Given the description of an element on the screen output the (x, y) to click on. 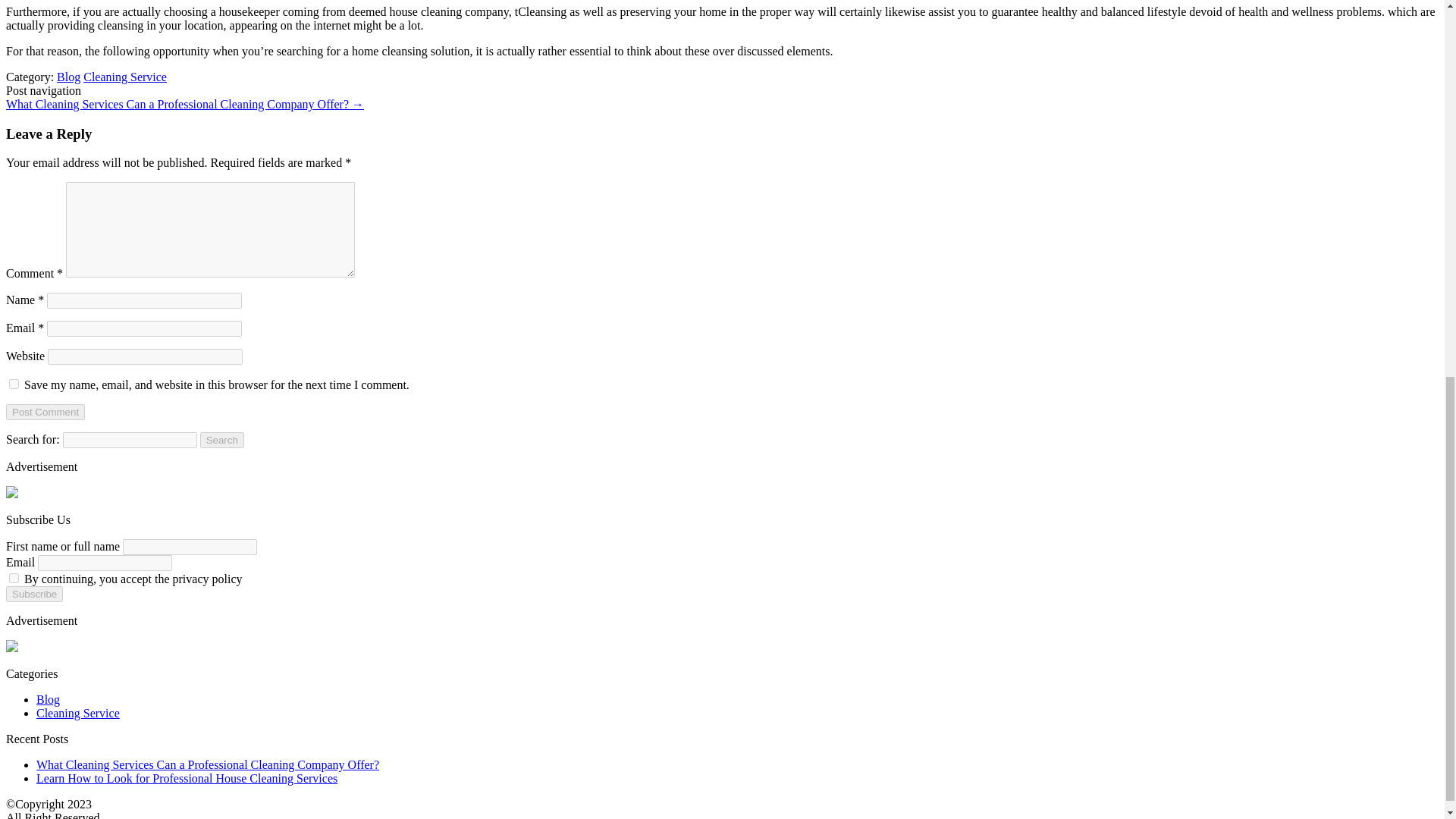
Learn How to Look for Professional House Cleaning Services (186, 778)
Blog (68, 76)
Search (222, 439)
Search (222, 439)
on (13, 578)
Cleaning Service (77, 712)
Cleaning Service (124, 76)
Subscribe (33, 593)
Blog (47, 698)
yes (13, 384)
Post Comment (44, 412)
Post Comment (44, 412)
Subscribe (33, 593)
